Given the description of an element on the screen output the (x, y) to click on. 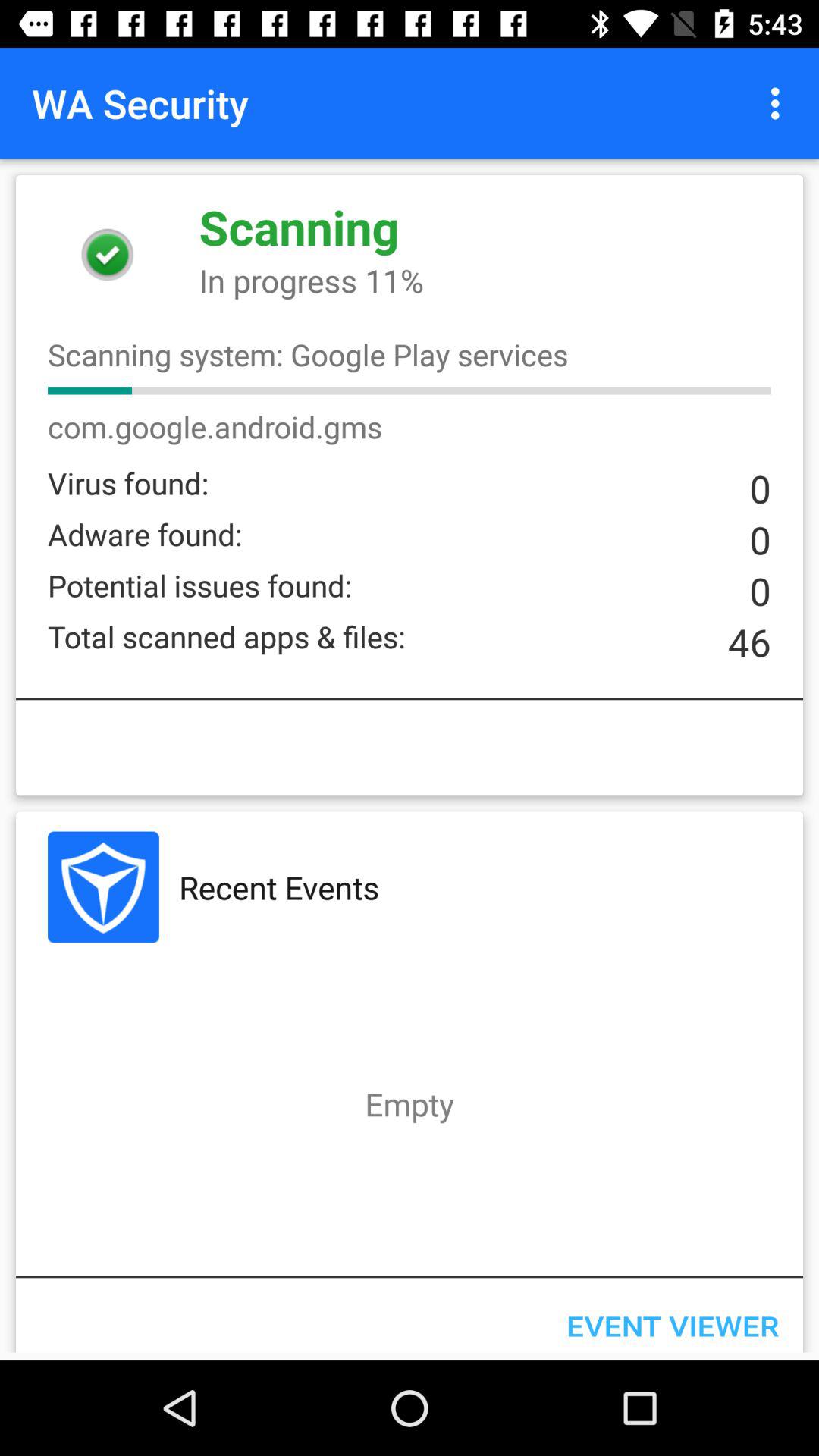
jump to event viewer (672, 1318)
